Given the description of an element on the screen output the (x, y) to click on. 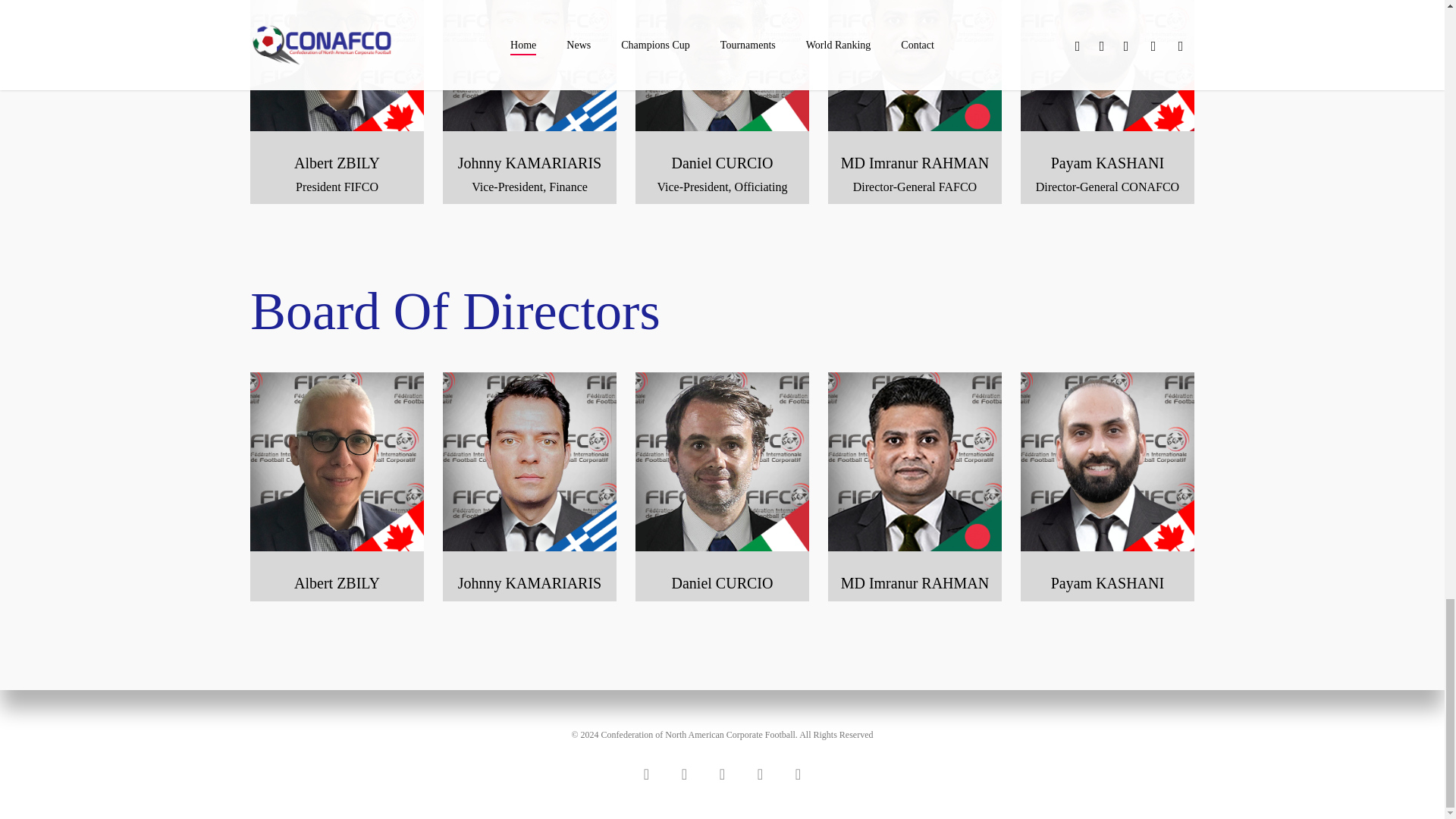
Payam KASHANI (1106, 65)
MD Imranur RAHMAN (914, 461)
Johnny KAMARIARIS (528, 65)
Johnny KAMARIARIS (528, 461)
MD Imranur RAHMAN (914, 65)
Daniel CURCIO (721, 461)
Payam KASHANI (1106, 461)
Daniel CURCIO (721, 65)
Albert ZBILY (336, 461)
Albert ZBILY (336, 65)
